Given the description of an element on the screen output the (x, y) to click on. 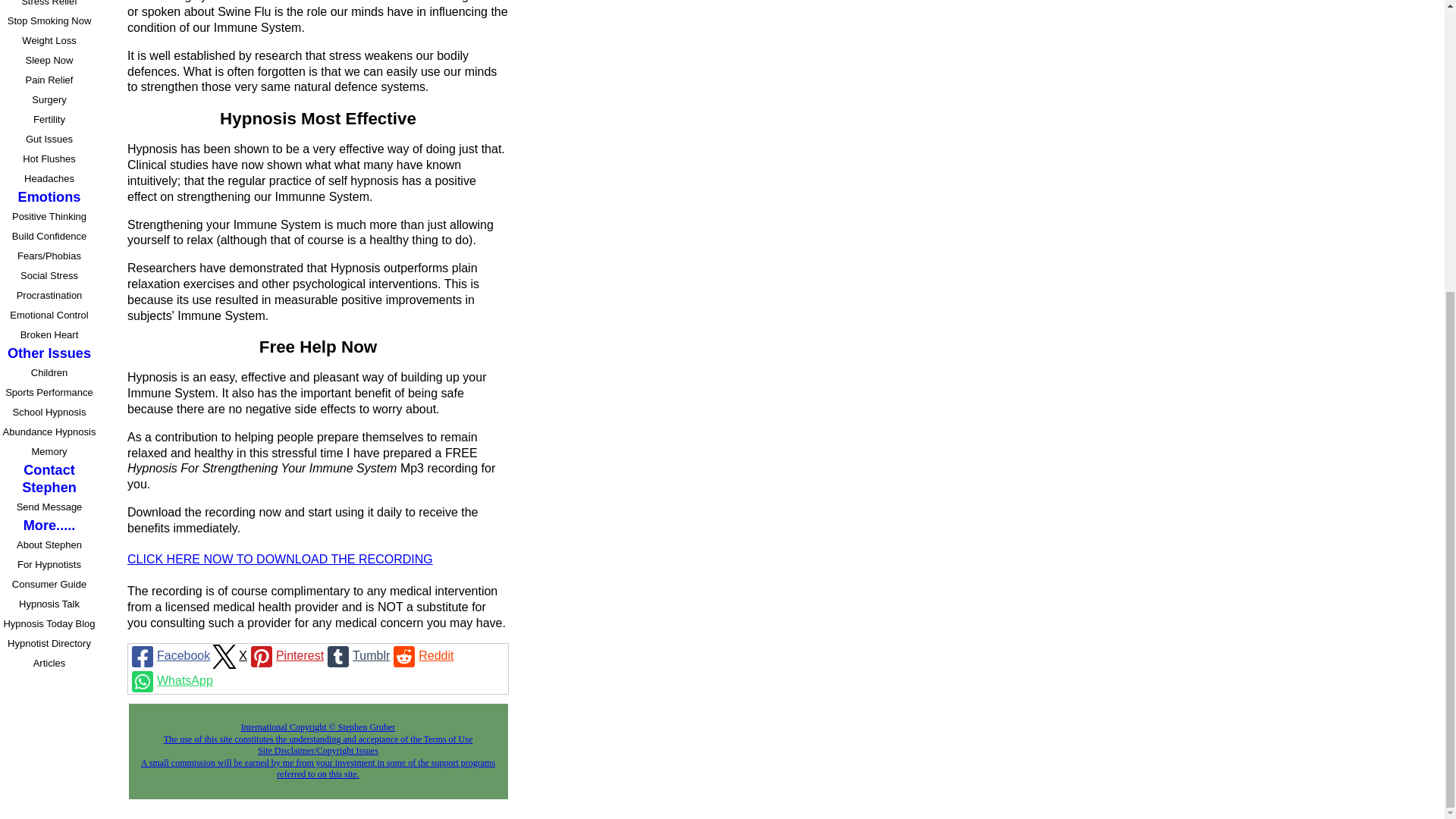
Hypnosis Talk (50, 604)
Social Stress (50, 275)
Headaches (50, 178)
Gut Issues (50, 139)
Stress Relief (50, 5)
Send Message (50, 506)
School Hypnosis (50, 412)
Build Confidence (50, 236)
Pain Relief (50, 80)
Hypnosis Today Blog (50, 623)
Memory (50, 451)
Click here now for the free Mp3 download (280, 558)
Positive Thinking (50, 216)
Weight Loss (50, 40)
About Stephen (50, 545)
